Given the description of an element on the screen output the (x, y) to click on. 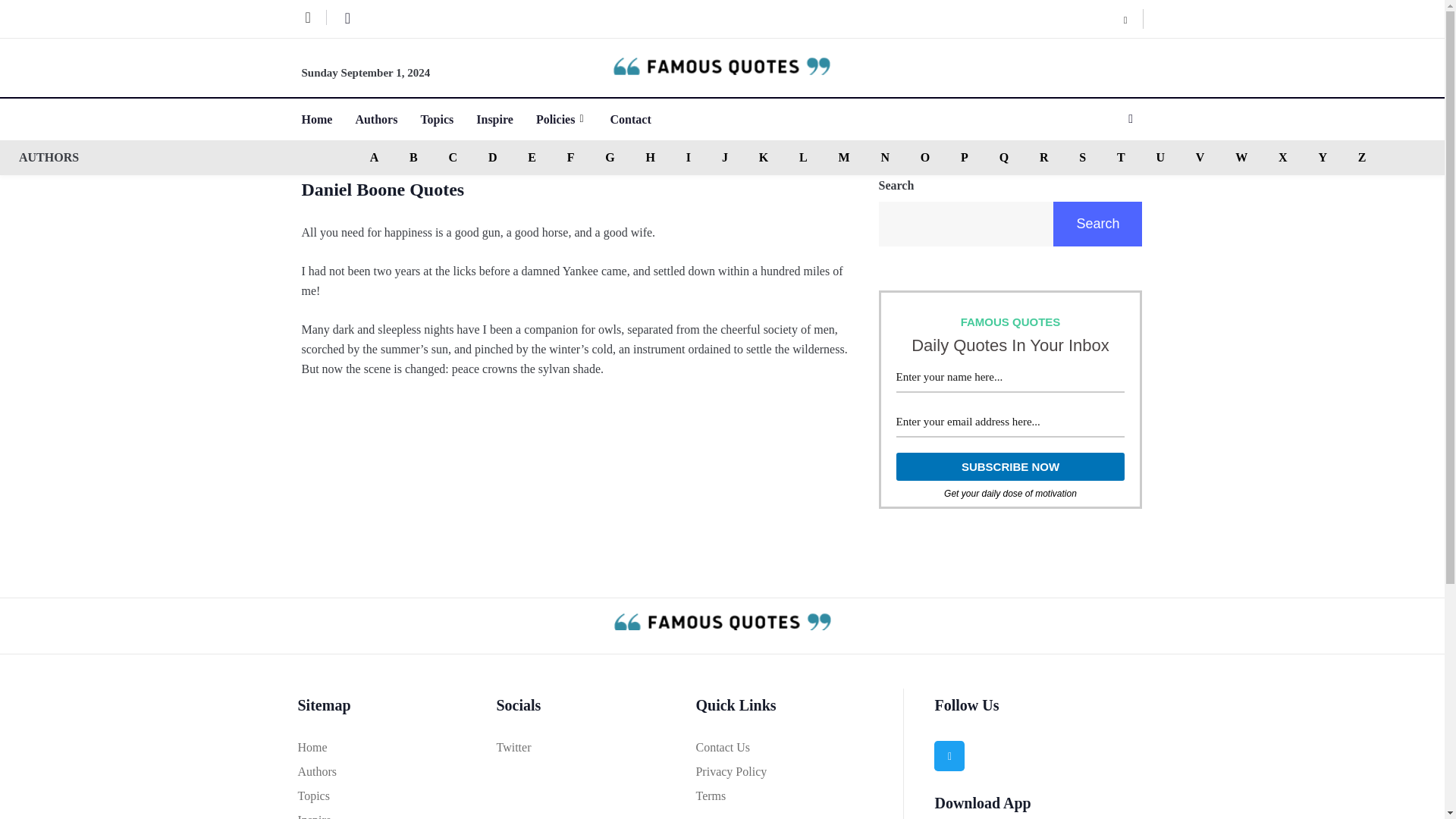
Inspire (505, 119)
Authors (387, 119)
Contact (642, 119)
Home (328, 119)
Topics (448, 119)
Subscribe Now (1010, 466)
Policies (572, 119)
